Given the description of an element on the screen output the (x, y) to click on. 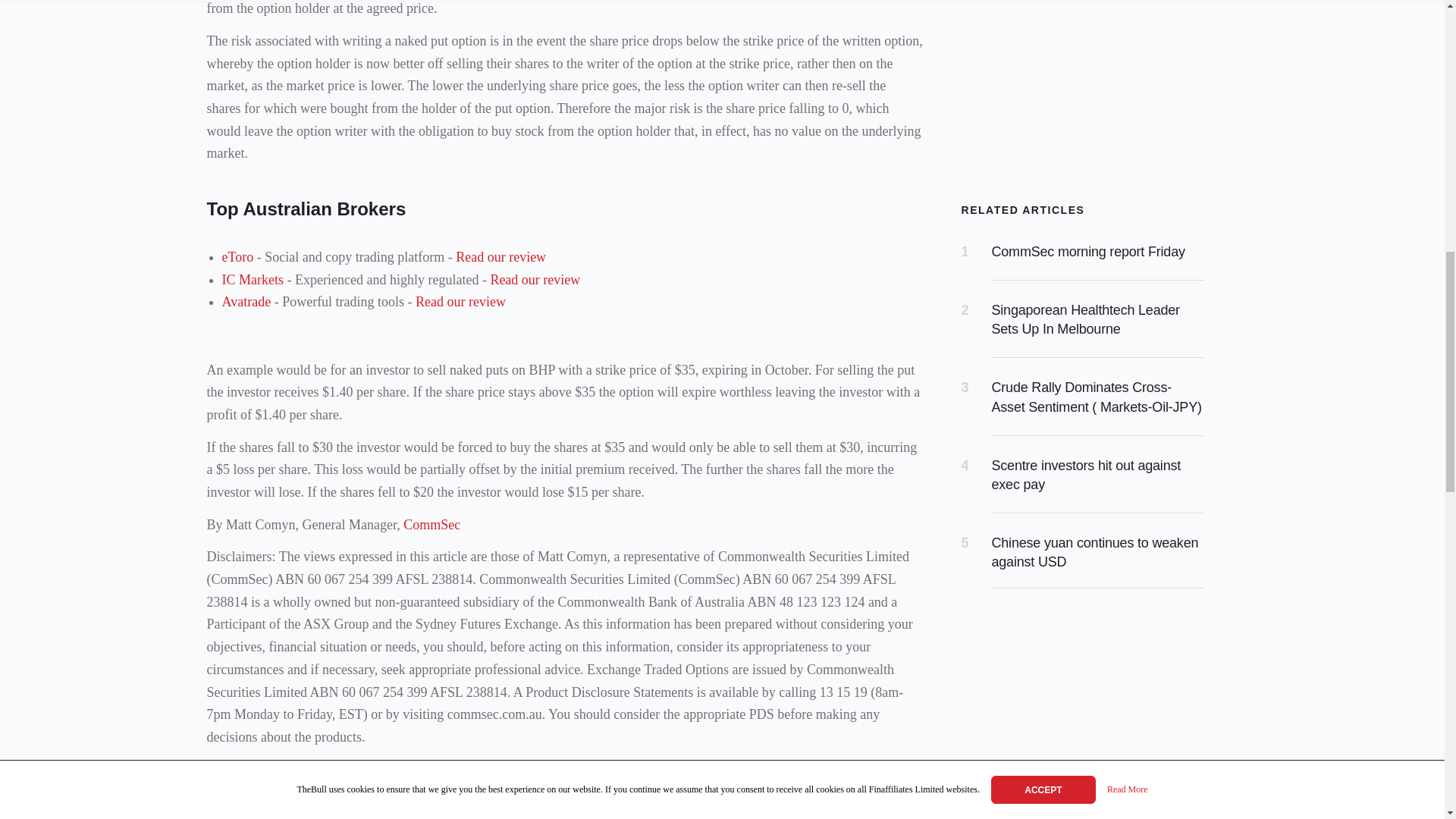
Read our review (500, 256)
Read our review (534, 278)
Read our review (459, 301)
Scentre investors hit out against exec pay (1085, 474)
CommSec morning report Friday (1088, 251)
IC Markets (251, 278)
CommSec (431, 524)
eToro (237, 256)
Scentre investors hit out against exec pay (1085, 474)
Chinese yuan continues to weaken against USD (1094, 552)
Avatrade (245, 301)
Singaporean Healthtech Leader Sets Up In Melbourne (1085, 319)
CommSec morning report Friday (1088, 251)
Singaporean Healthtech Leader Sets Up In Melbourne (1085, 319)
Chinese yuan continues to weaken against USD (1094, 552)
